Given the description of an element on the screen output the (x, y) to click on. 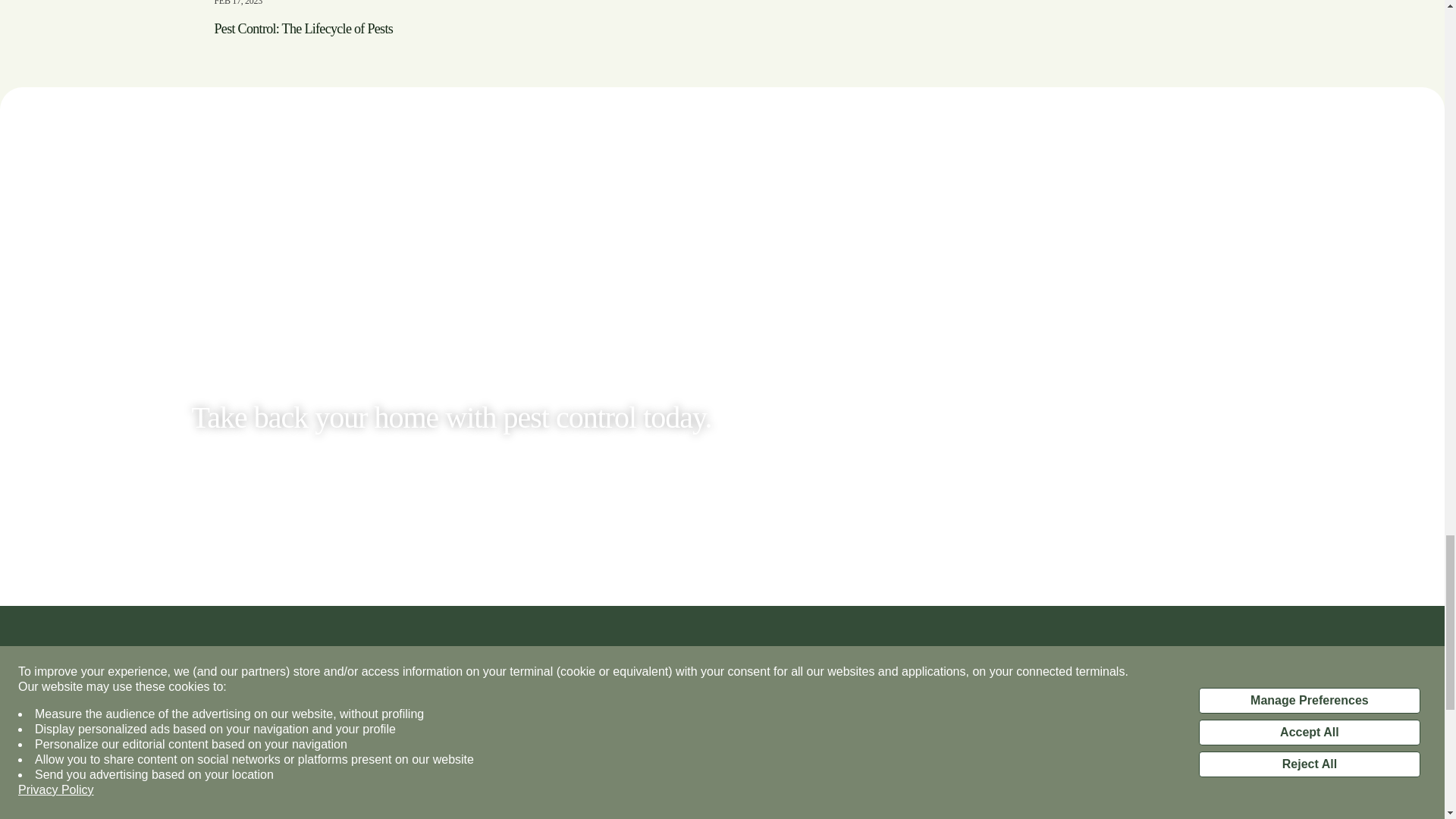
Follow on Facebook (823, 793)
aptive-registered-logo-white (441, 743)
Follow on X (763, 793)
Follow on LinkedIn (854, 793)
Follow on Instagram (793, 793)
